Given the description of an element on the screen output the (x, y) to click on. 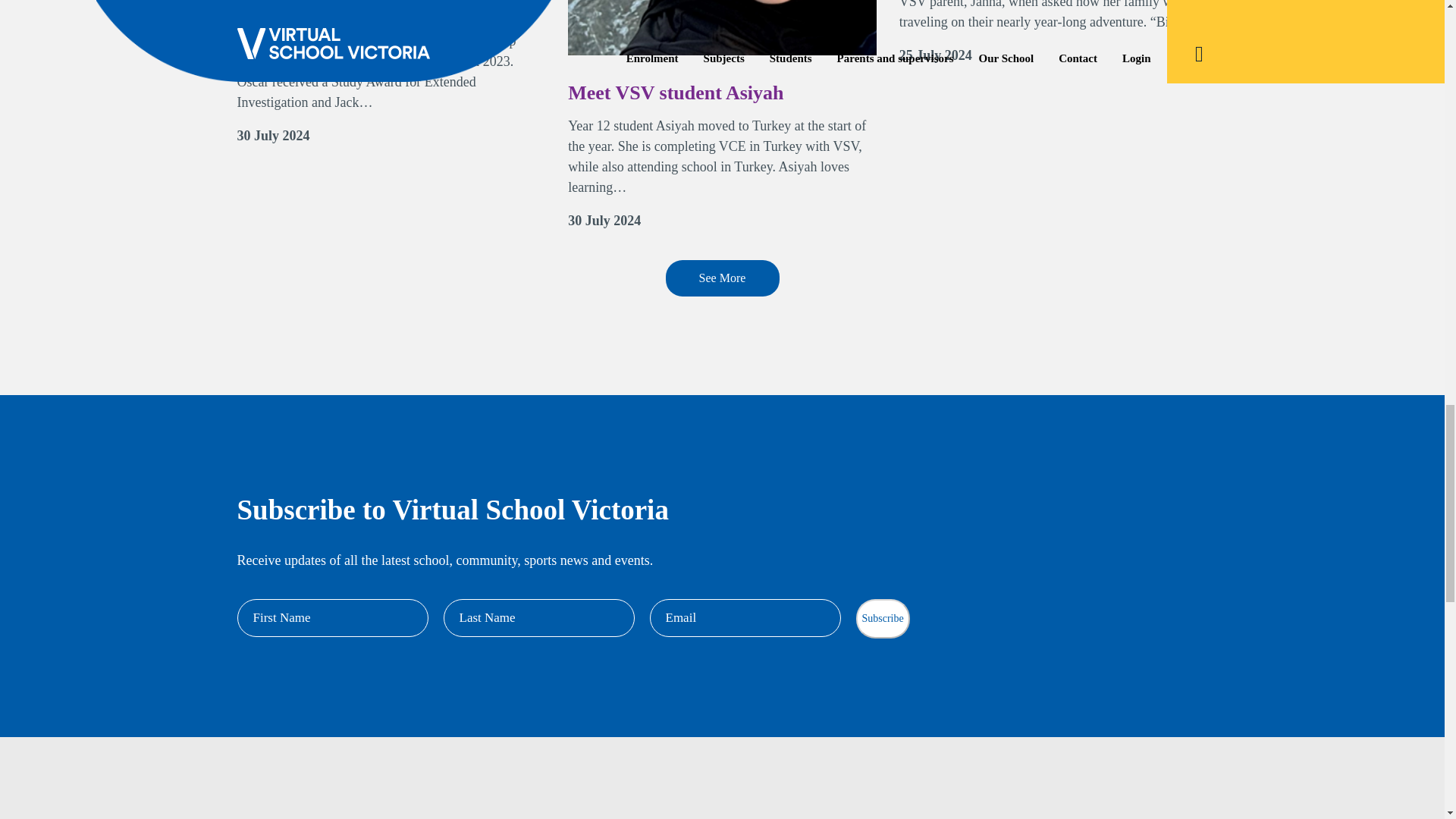
See more (721, 278)
Meet VSV student Asiyah (721, 113)
Subscribe (882, 618)
